Given the description of an element on the screen output the (x, y) to click on. 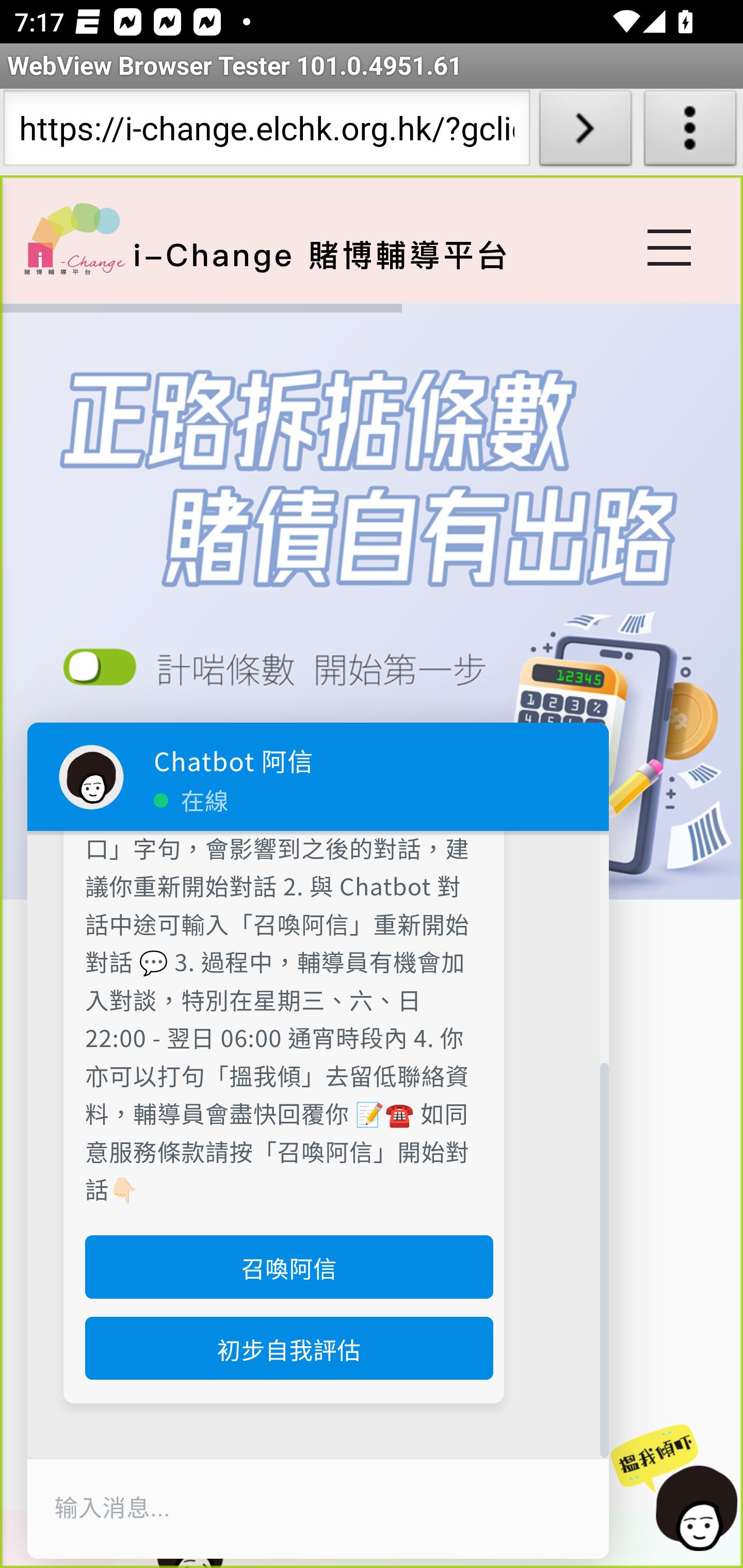
Load URL (585, 132)
About WebView (690, 132)
Home (74, 238)
查閱私隱政策 (283, 674)
Chat Now (672, 1488)
